Given the description of an element on the screen output the (x, y) to click on. 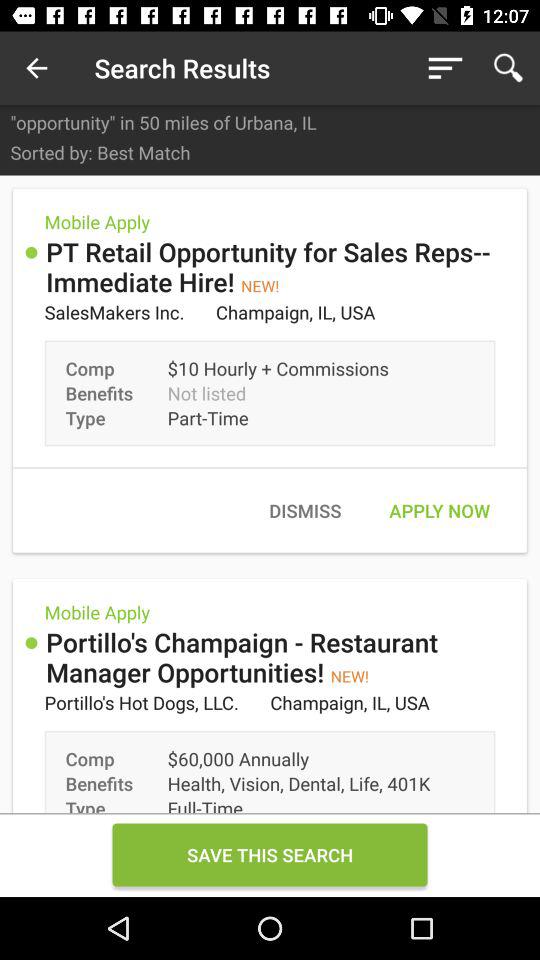
flip until the apply now (439, 510)
